Given the description of an element on the screen output the (x, y) to click on. 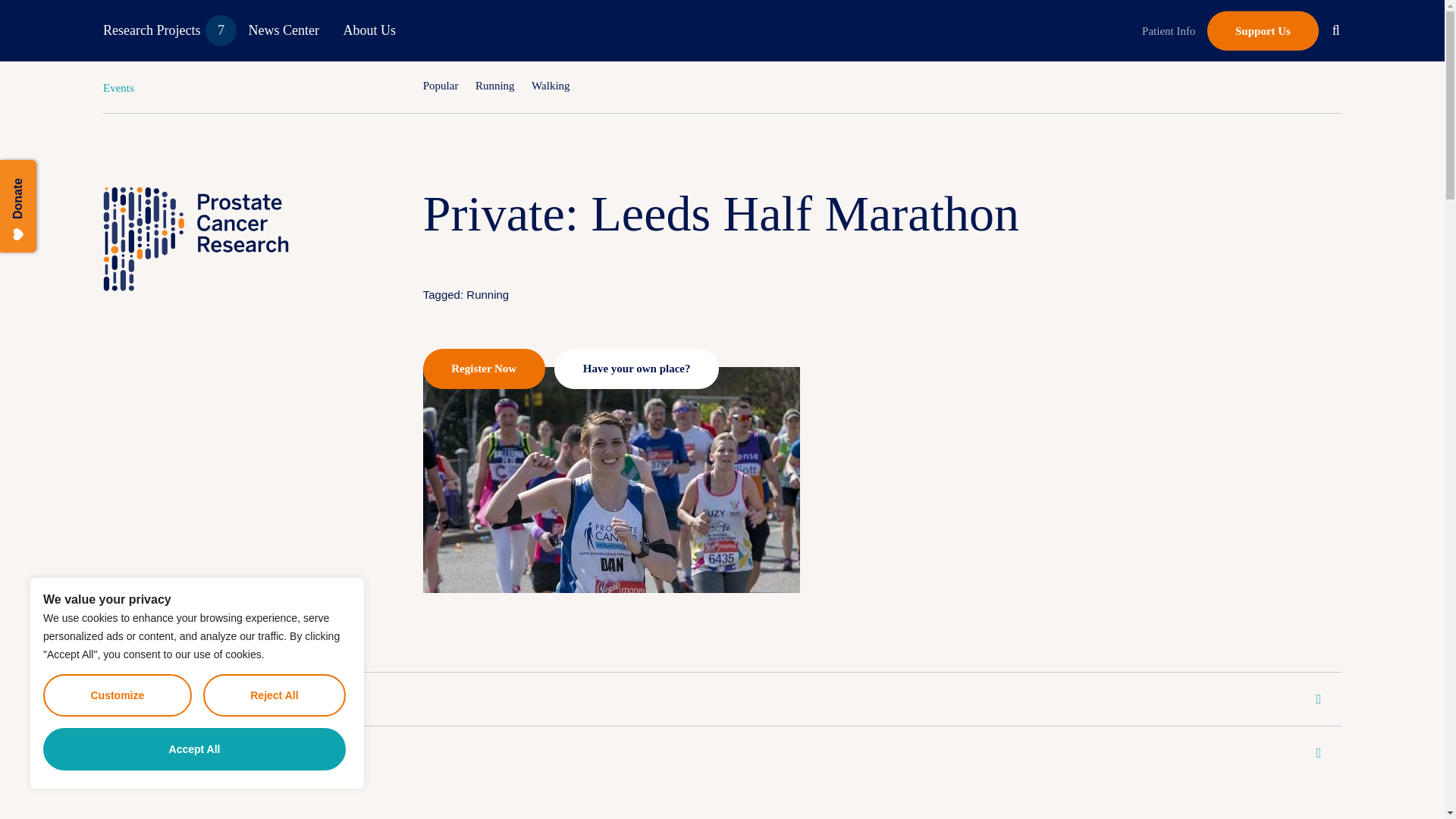
News Center (283, 30)
Research Projects 7 (163, 30)
Support Us (1263, 30)
Reject All (274, 695)
Search (1335, 29)
Accept All (194, 749)
Patient Info (1169, 30)
Prostate Cancer Research (208, 87)
Customize (117, 695)
Persistent Donate Button (48, 178)
About Us (369, 30)
